Given the description of an element on the screen output the (x, y) to click on. 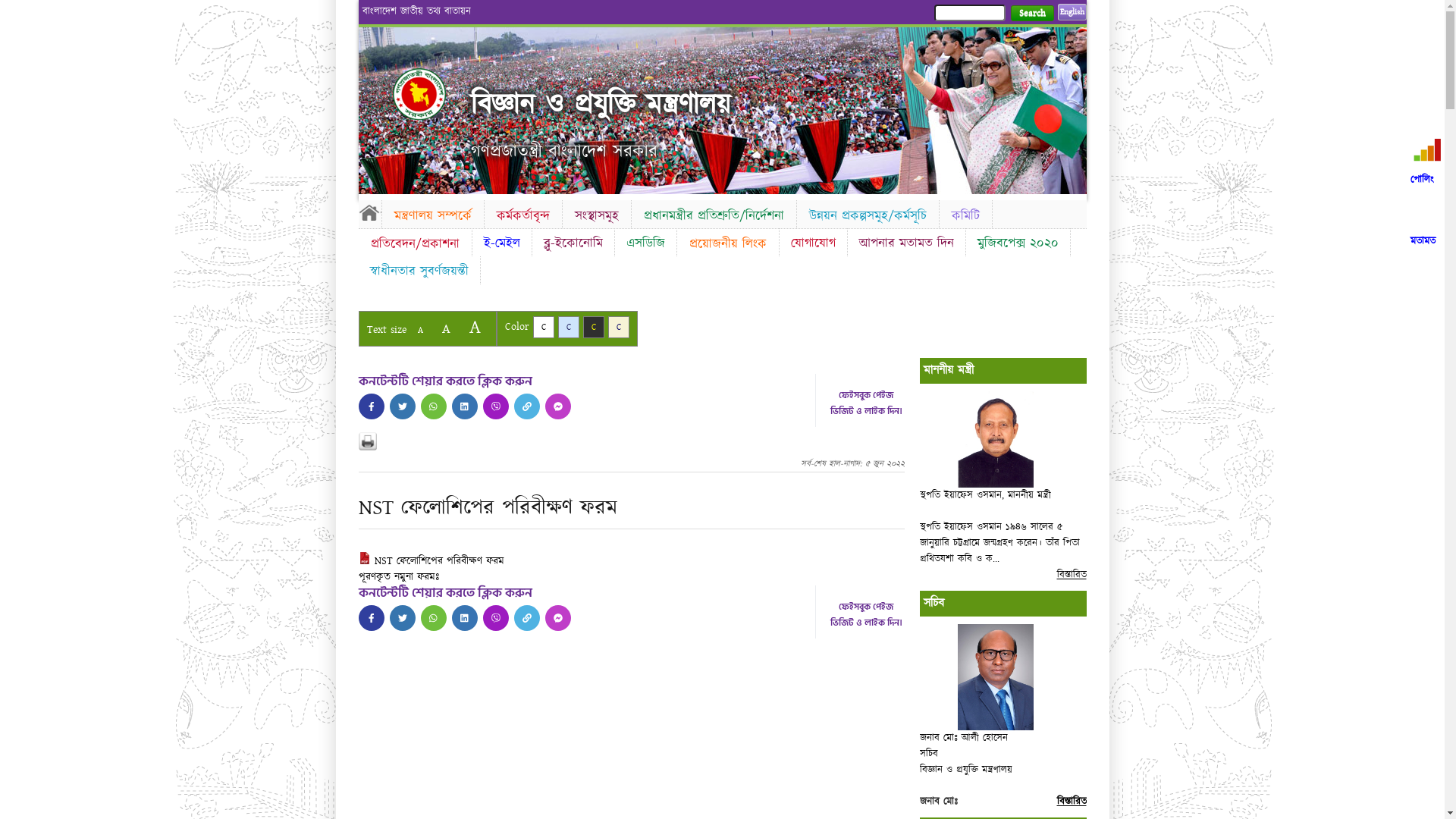
A Element type: text (474, 327)
C Element type: text (542, 327)
English Element type: text (1071, 11)
C Element type: text (618, 327)
Home Element type: hover (368, 211)
A Element type: text (419, 330)
Home Element type: hover (431, 93)
A Element type: text (445, 328)
Search Element type: text (1031, 13)
C Element type: text (568, 327)
C Element type: text (592, 327)
